Given the description of an element on the screen output the (x, y) to click on. 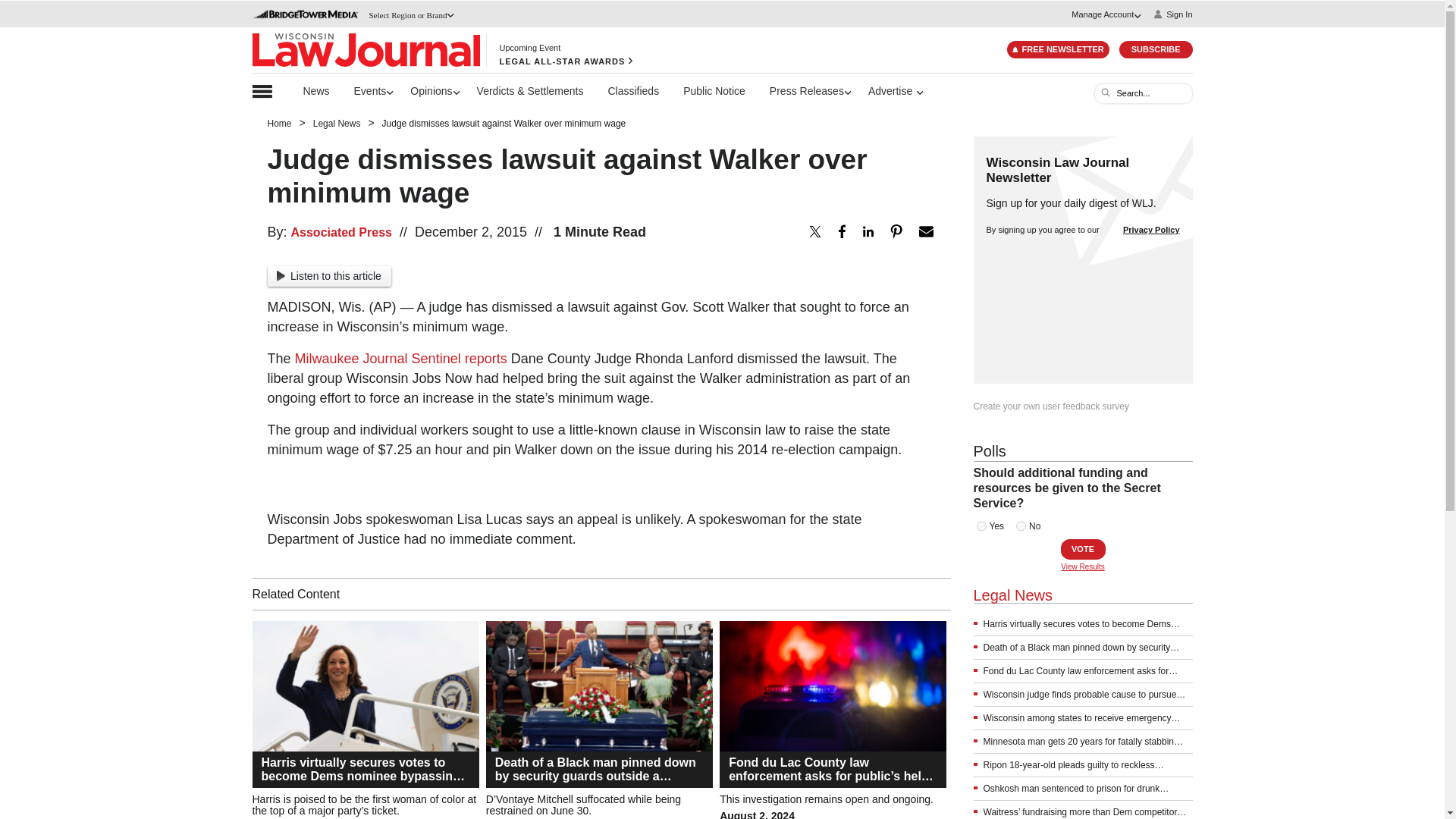
502 (1021, 525)
   Vote    (1082, 548)
View Results Of This Poll (1083, 566)
501 (981, 525)
Share by Email (925, 230)
